Given the description of an element on the screen output the (x, y) to click on. 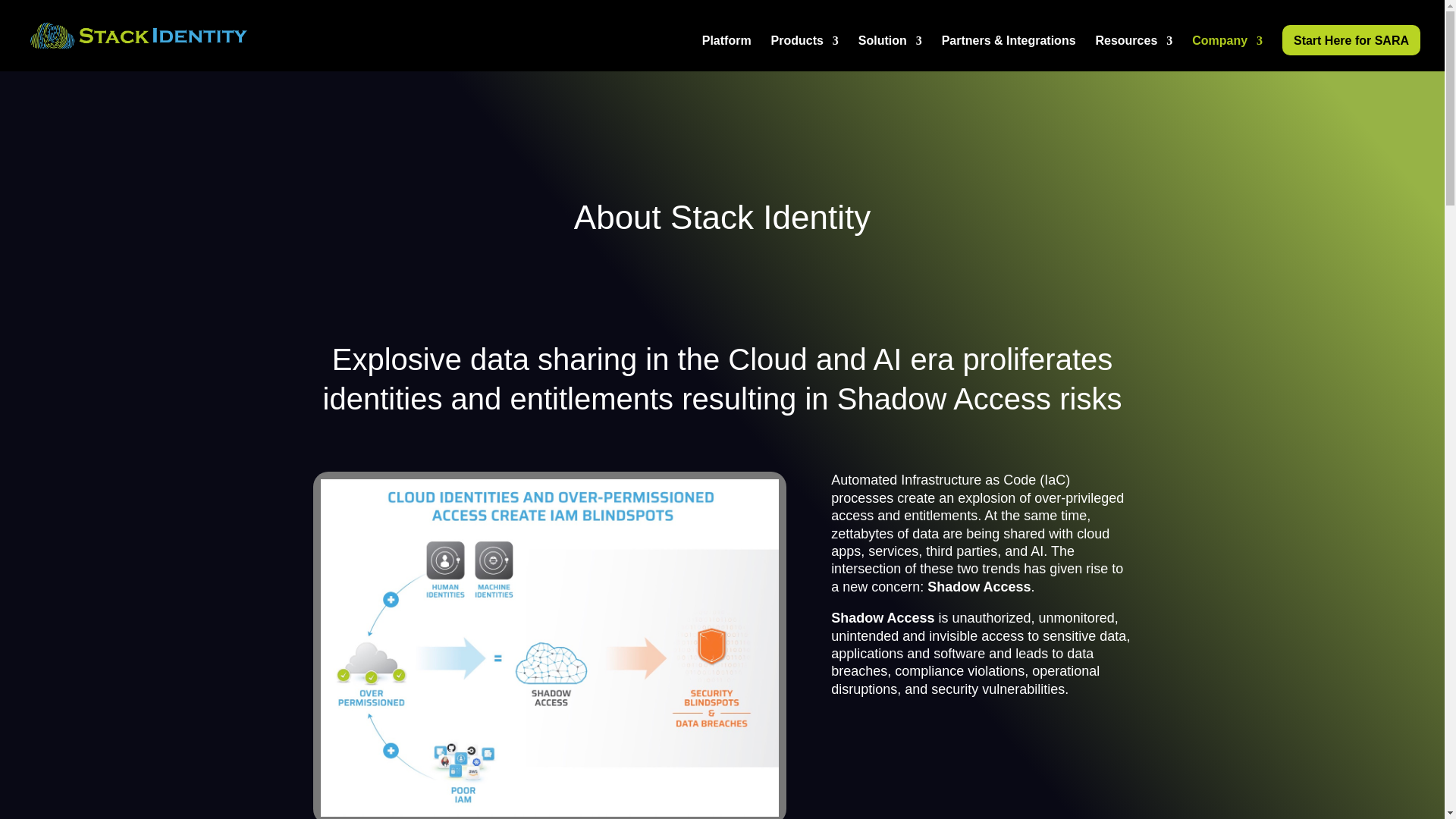
Resources (1133, 53)
Products (804, 53)
Solution (890, 53)
Company (1227, 53)
Start Here for SARA (1351, 40)
Platform (726, 53)
